Given the description of an element on the screen output the (x, y) to click on. 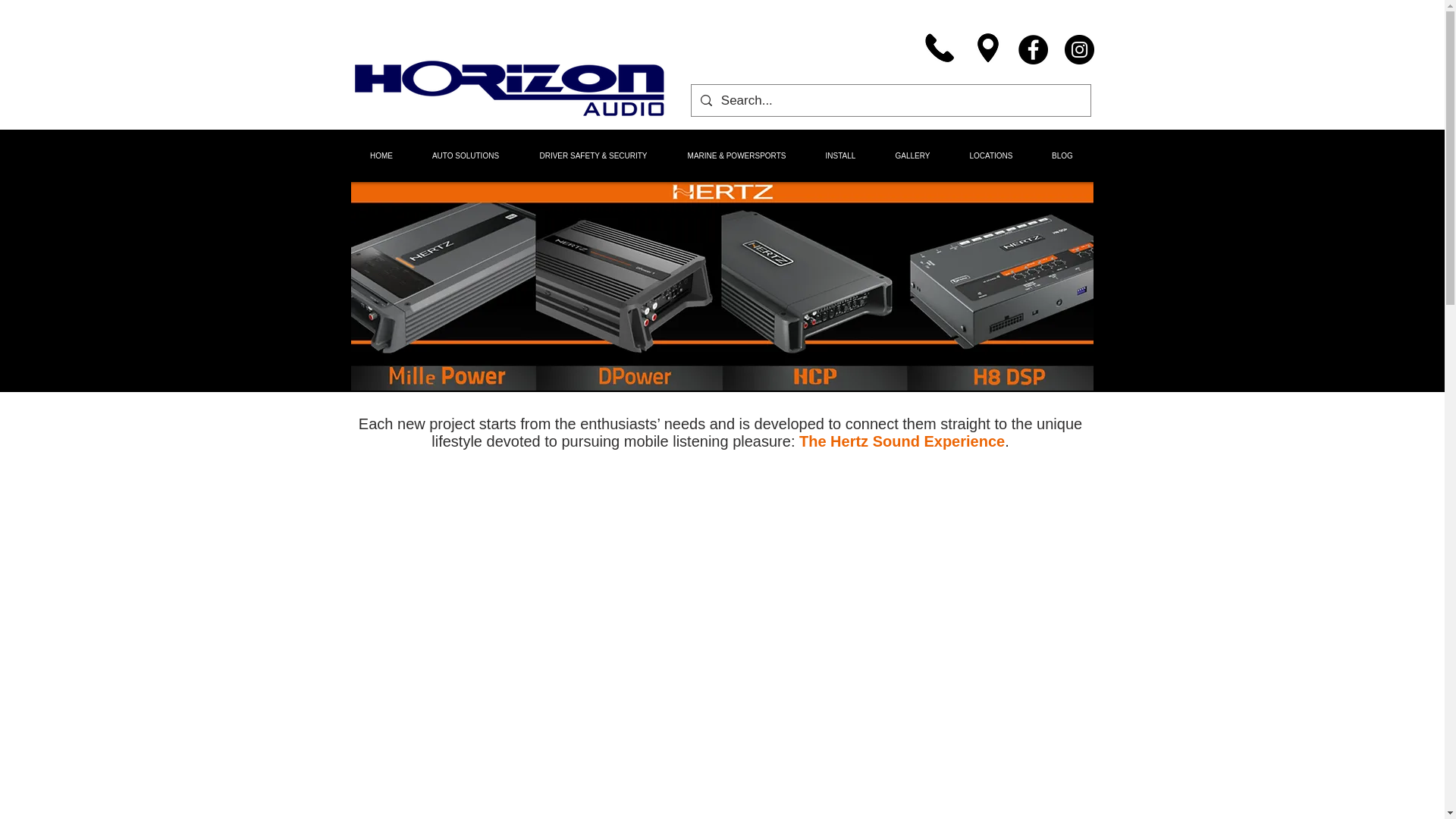
LOCATIONS (990, 155)
HOME (381, 155)
INSTALL (840, 155)
GALLERY (912, 155)
BLOG (1062, 155)
AUTO SOLUTIONS (465, 155)
